Given the description of an element on the screen output the (x, y) to click on. 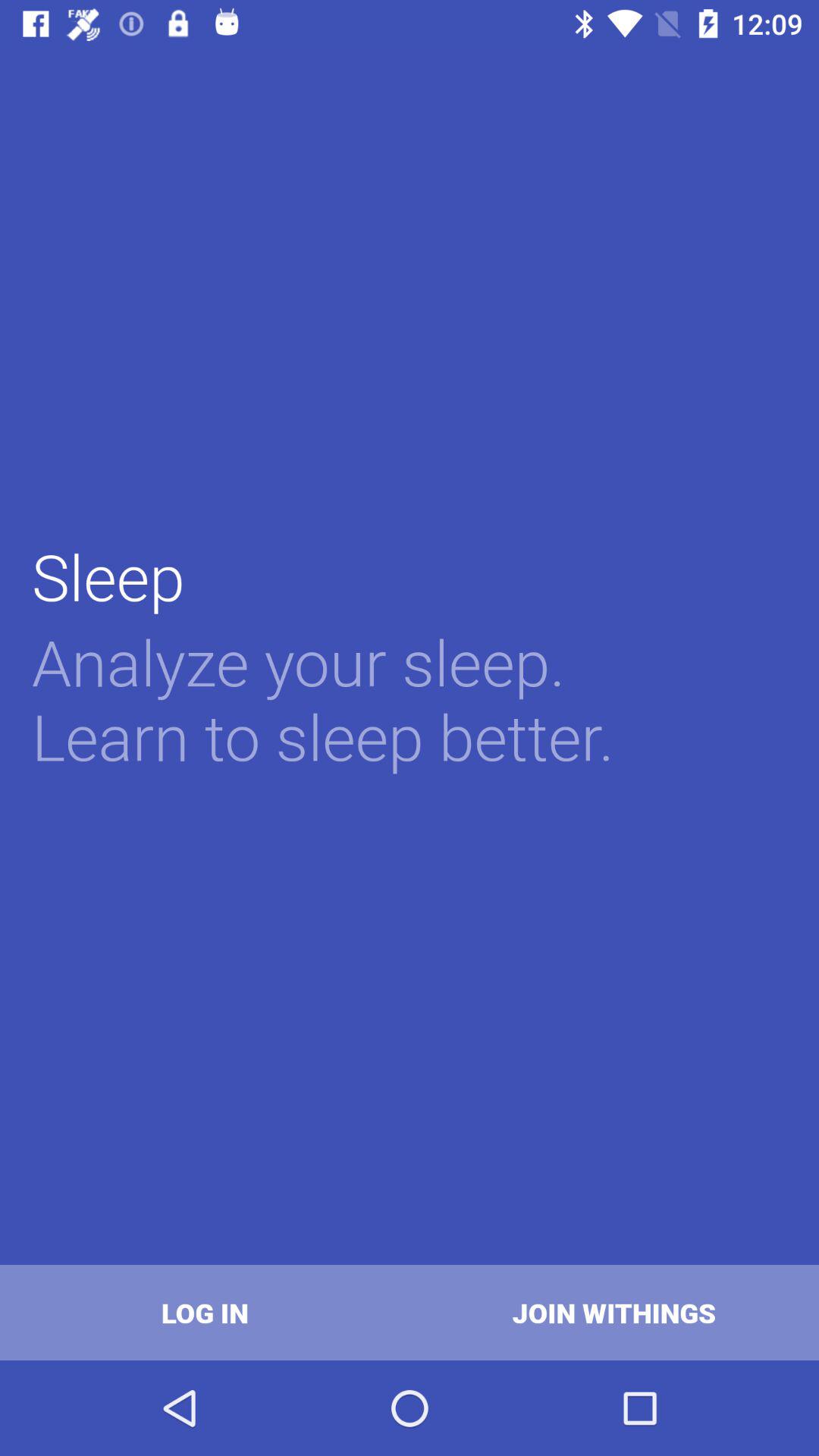
click icon to the right of the log in icon (614, 1312)
